Given the description of an element on the screen output the (x, y) to click on. 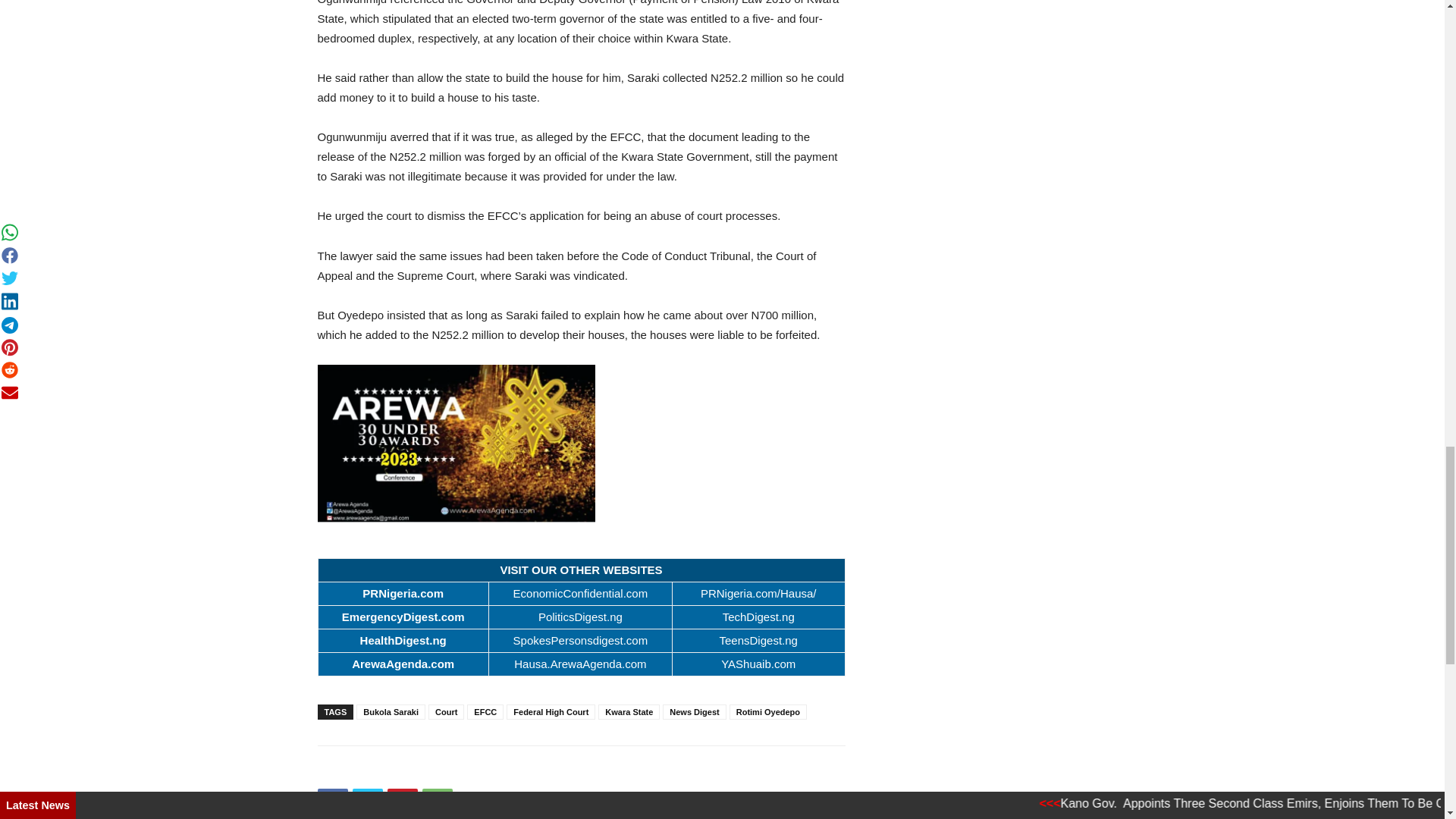
Arewa Award (580, 443)
bottomFacebookLike (430, 770)
